Given the description of an element on the screen output the (x, y) to click on. 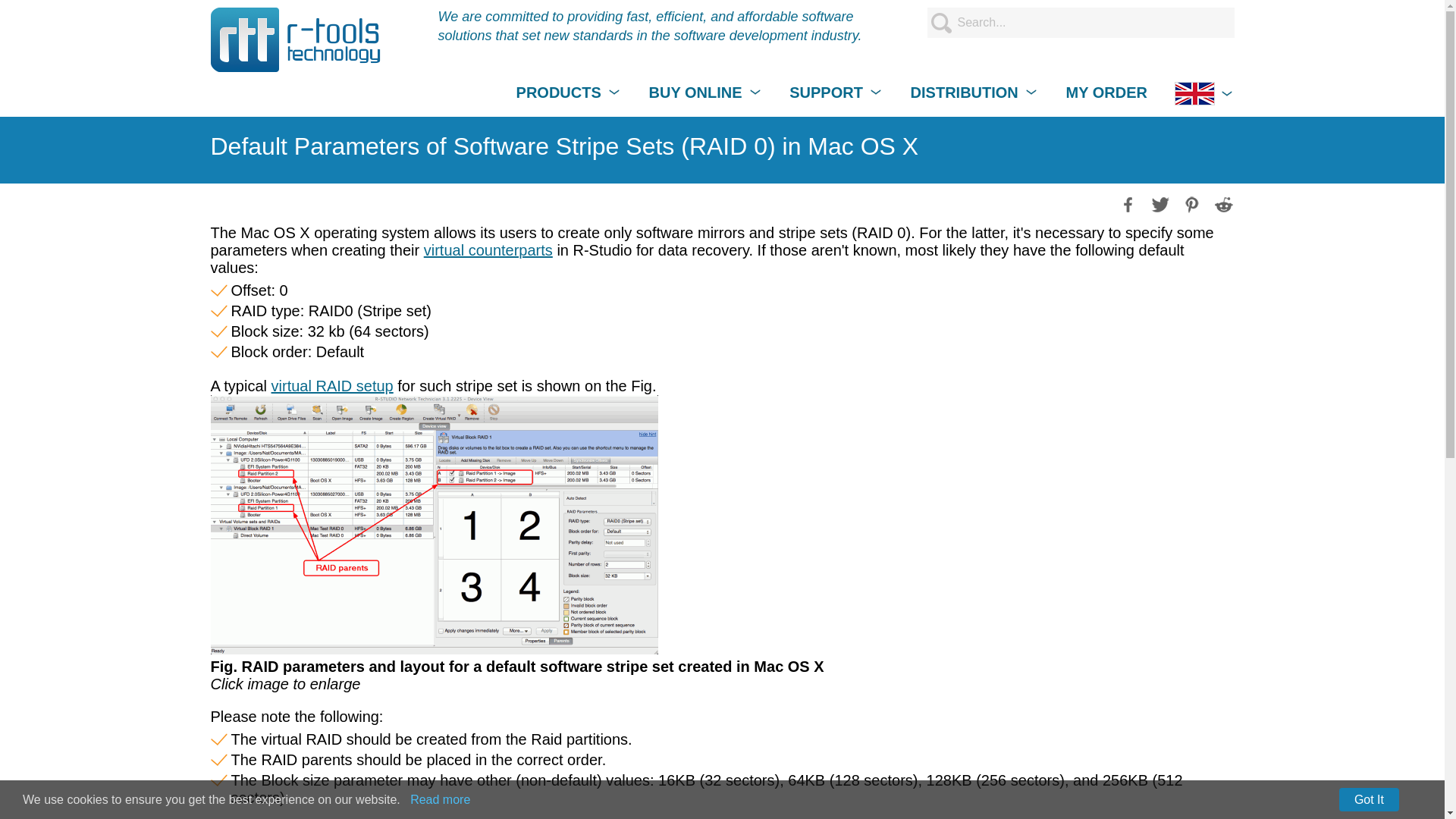
Share on Twitter (1158, 202)
Share on Facebook (1126, 202)
Search... (1079, 22)
R-Tools Technology Inc. (296, 39)
Share on Reddit (1221, 202)
Search... (1079, 22)
Share on Pinterest (1189, 202)
MY ORDER (1106, 92)
